Given the description of an element on the screen output the (x, y) to click on. 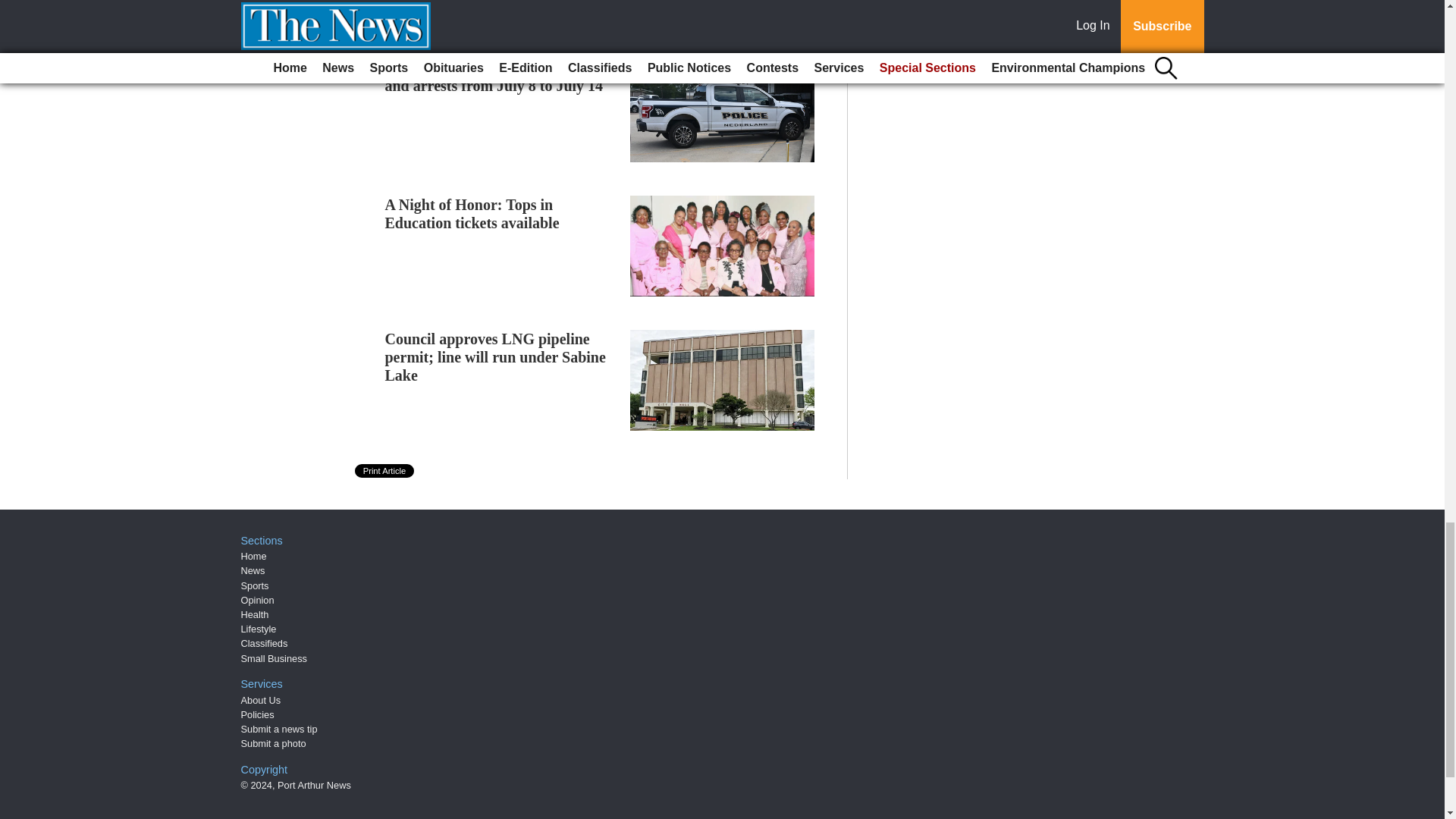
A Night of Honor: Tops in Education tickets available (472, 213)
Print Article (384, 470)
A Night of Honor: Tops in Education tickets available (472, 213)
